Given the description of an element on the screen output the (x, y) to click on. 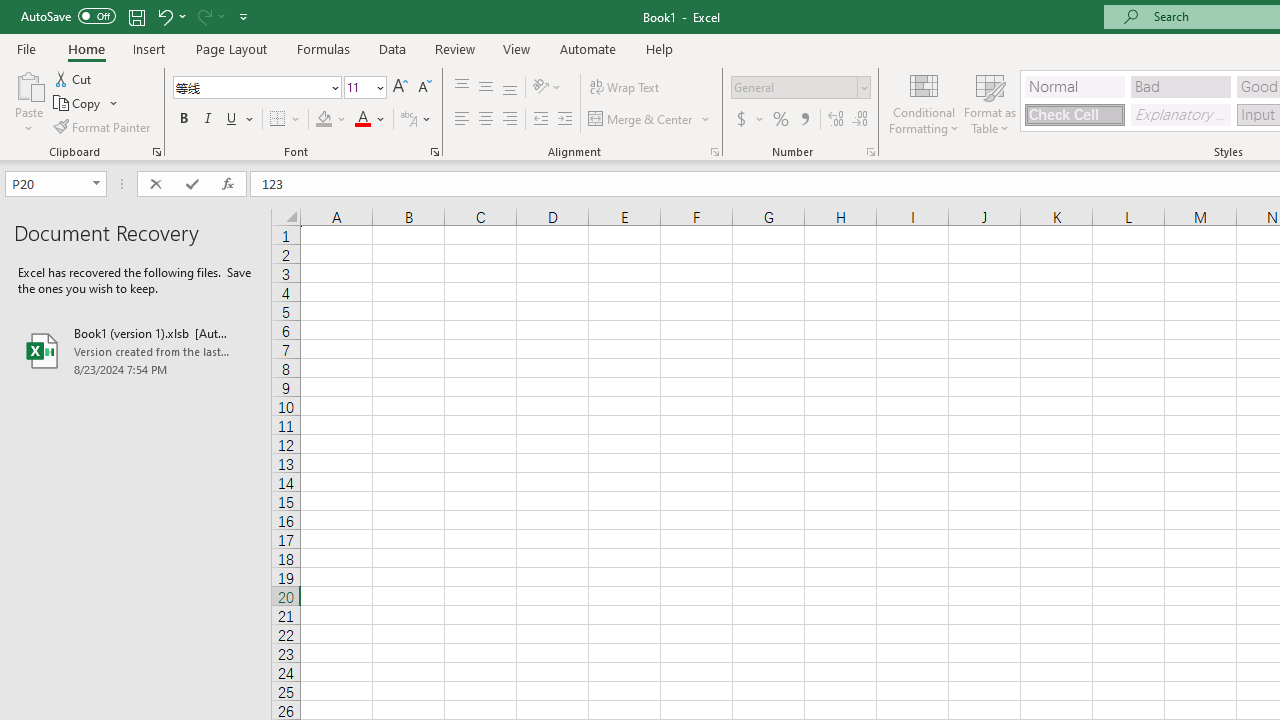
Orientation (547, 87)
Bottom Align (509, 87)
Paste (28, 84)
Conditional Formatting (924, 102)
Align Right (509, 119)
Font Size (358, 87)
Accounting Number Format (741, 119)
Copy (85, 103)
Bottom Border (278, 119)
Number Format (794, 87)
